Given the description of an element on the screen output the (x, y) to click on. 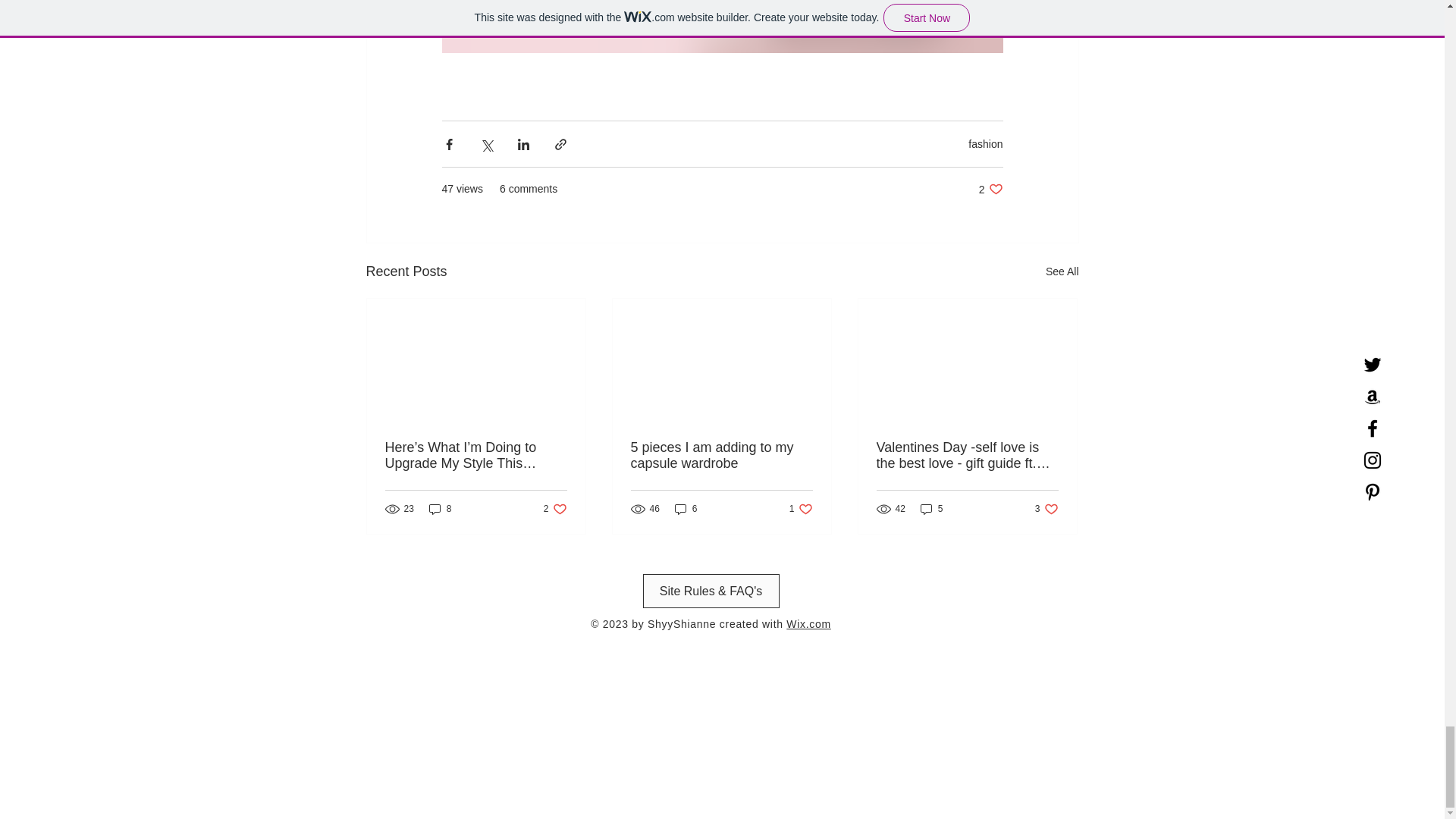
fashion (985, 143)
See All (1061, 271)
